Given the description of an element on the screen output the (x, y) to click on. 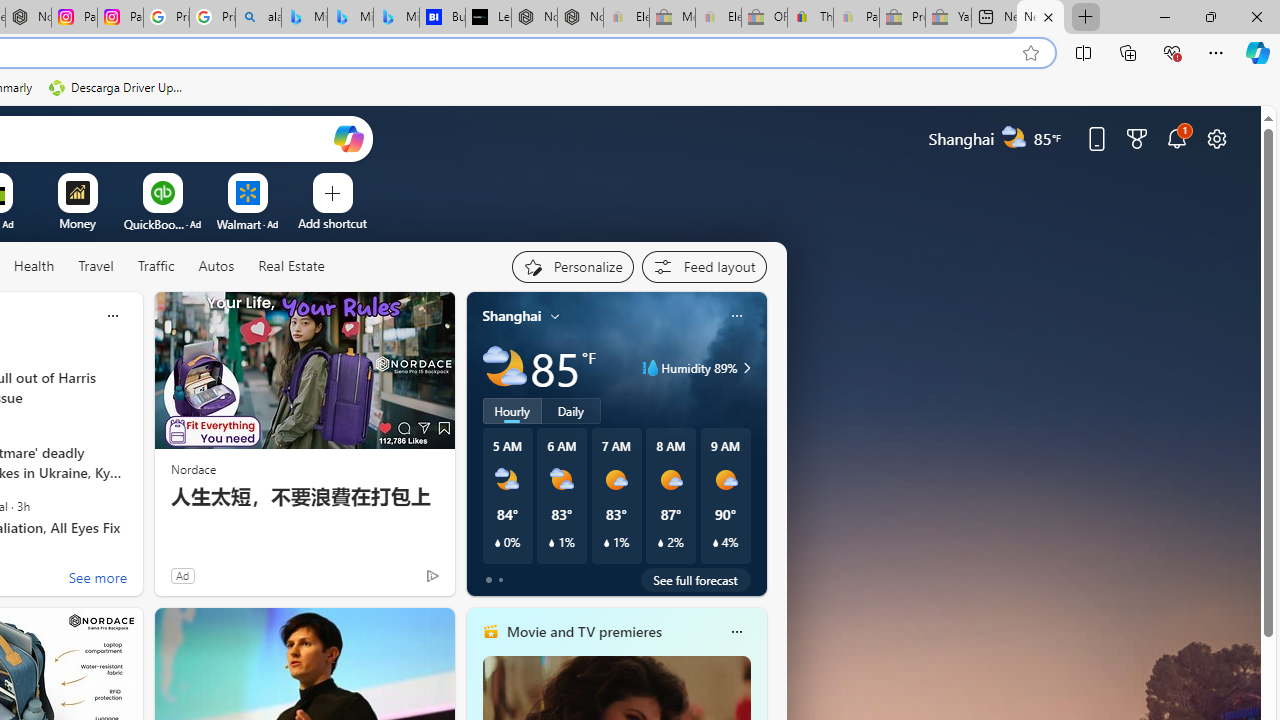
Real Estate (291, 265)
Shanghai (511, 315)
Health (34, 265)
Travel (95, 265)
Microsoft Bing Travel - Flights from Hong Kong to Bangkok (303, 17)
Daily (571, 411)
